Given the description of an element on the screen output the (x, y) to click on. 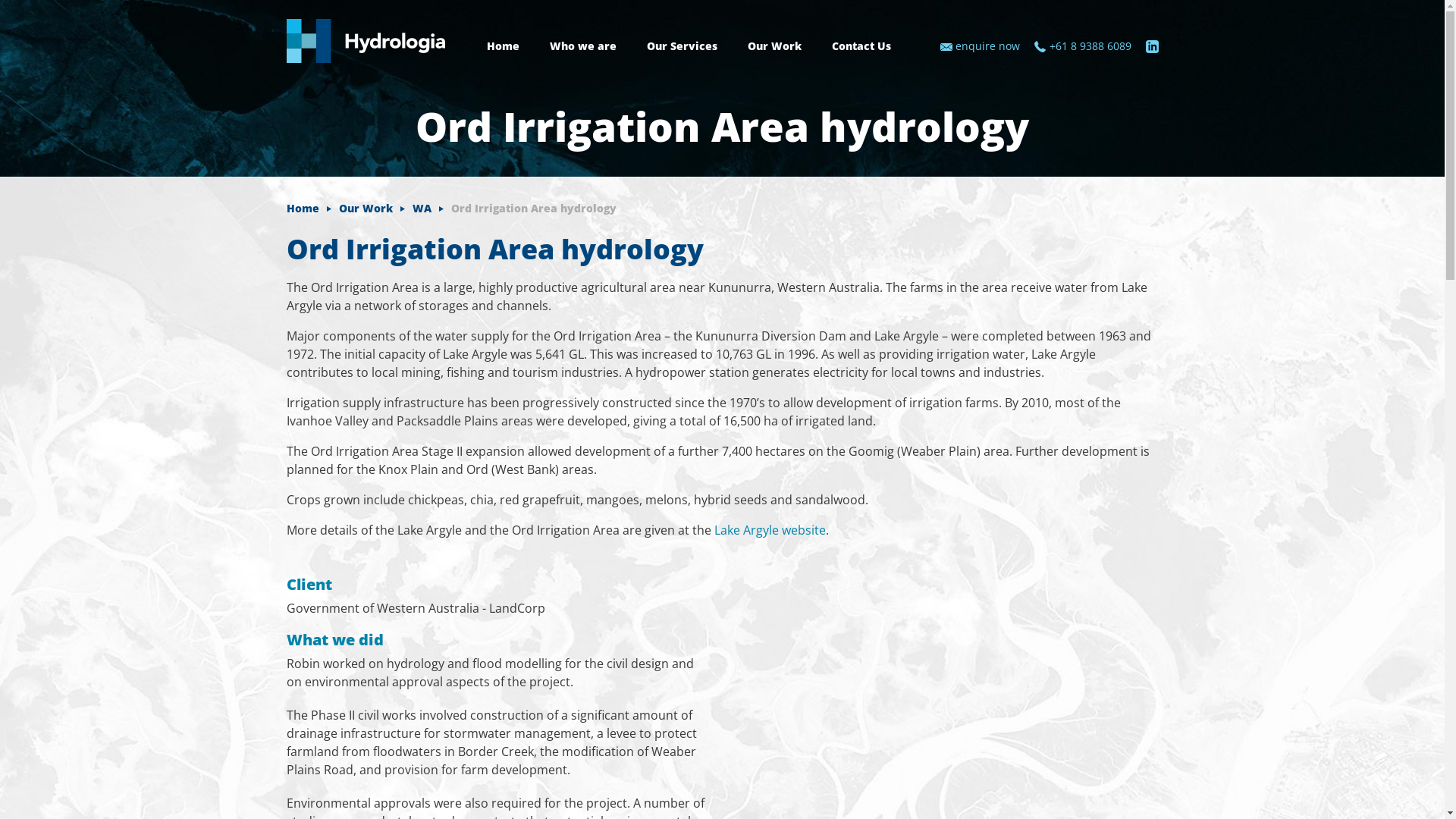
Who we are Element type: text (581, 47)
enquire now Element type: text (987, 45)
Contact Us Element type: text (860, 47)
Linkedin Element type: text (1151, 46)
WA Element type: text (431, 207)
+61 8 9388 6089 Element type: text (1090, 45)
Our Work Element type: text (374, 207)
Lake Argyle website Element type: text (769, 529)
Home Element type: text (312, 207)
Our Services Element type: text (680, 47)
Home Element type: text (502, 47)
Our Work Element type: text (774, 47)
